Given the description of an element on the screen output the (x, y) to click on. 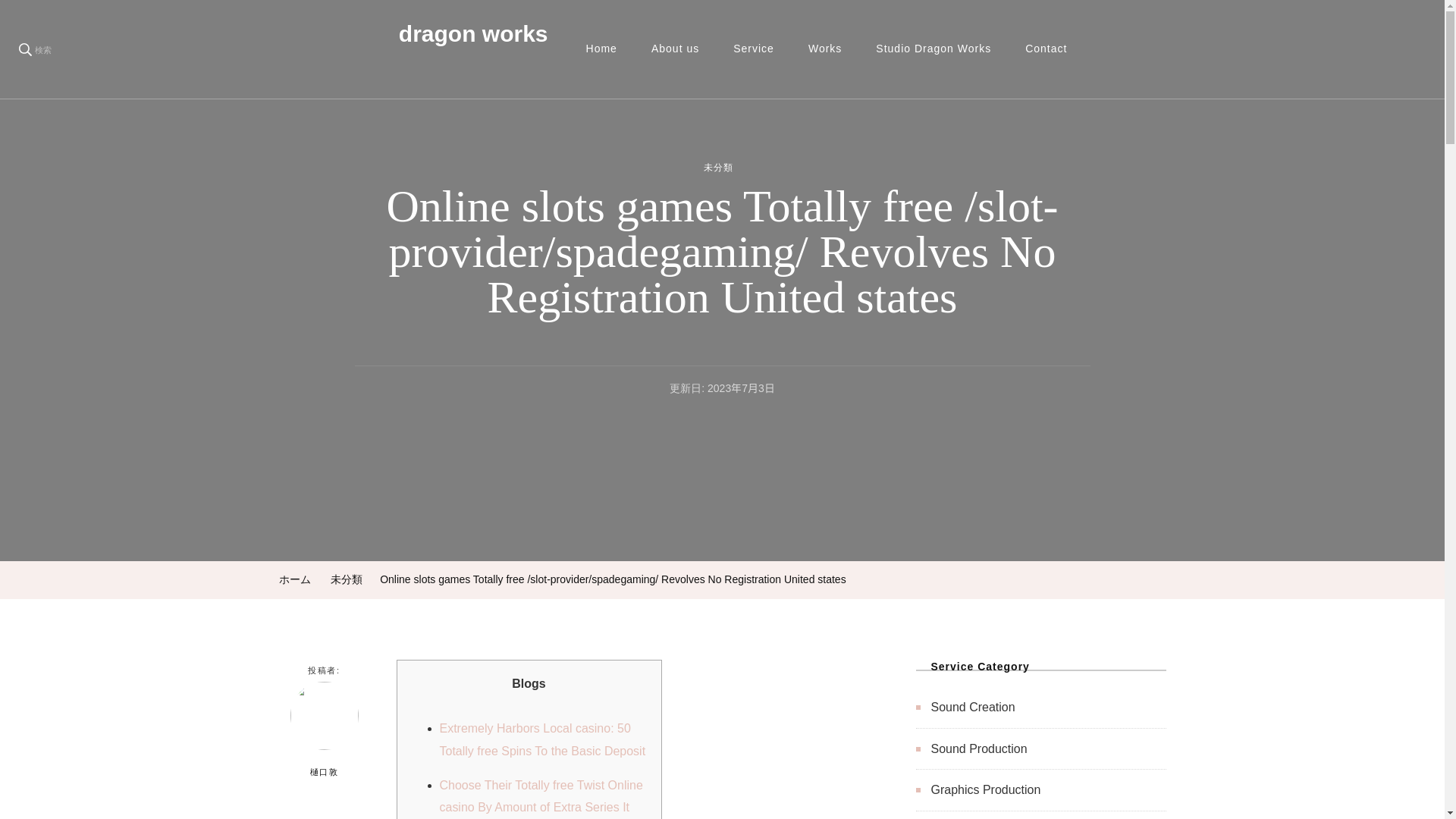
dragon works (473, 33)
About us (675, 49)
Service (753, 49)
Works (825, 49)
Contact (1045, 49)
Home (600, 49)
Studio Dragon Works (933, 49)
